Given the description of an element on the screen output the (x, y) to click on. 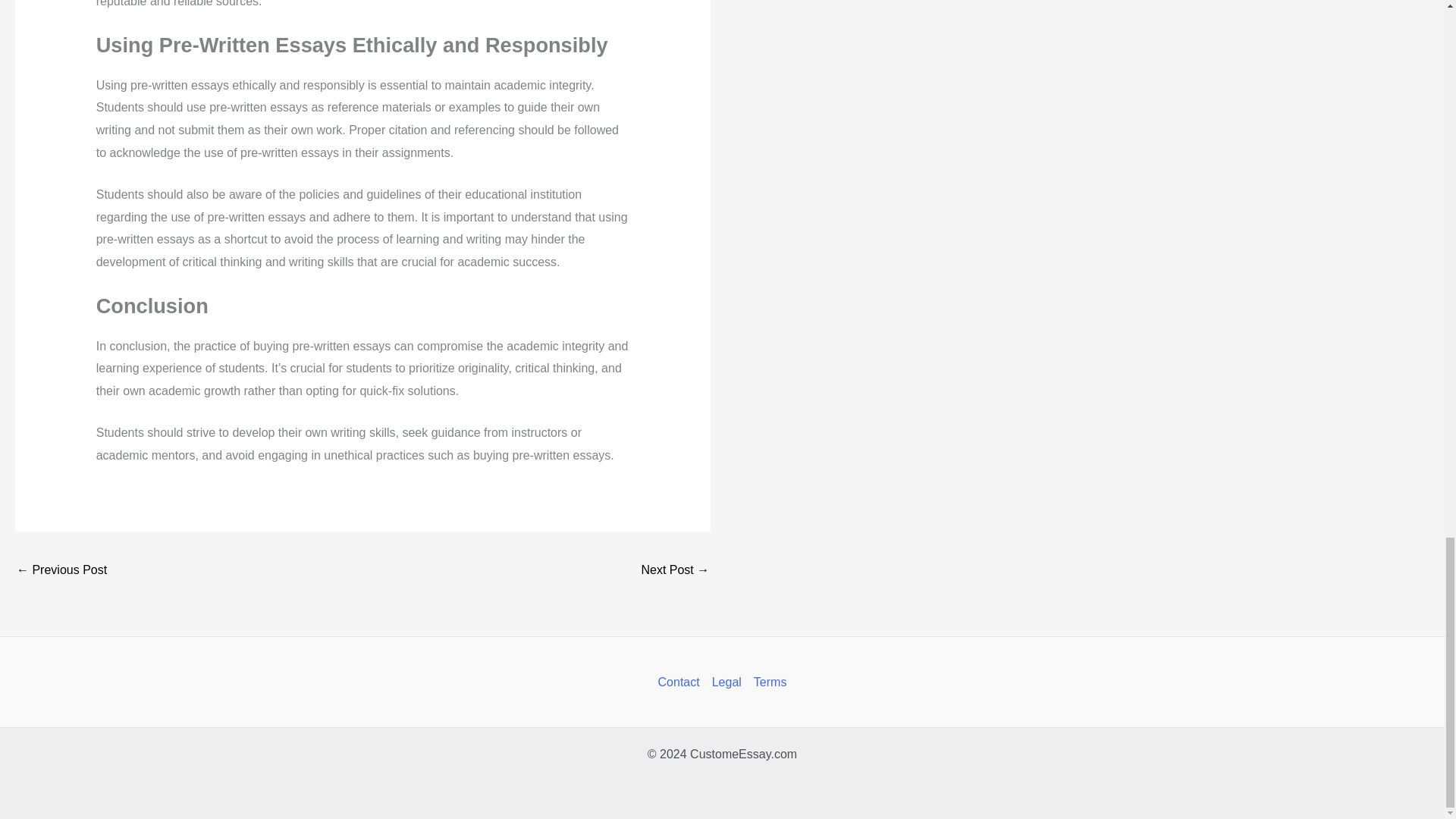
Buy Law Essay (674, 571)
Why Writing Is Harder Than Speaking (61, 571)
